Given the description of an element on the screen output the (x, y) to click on. 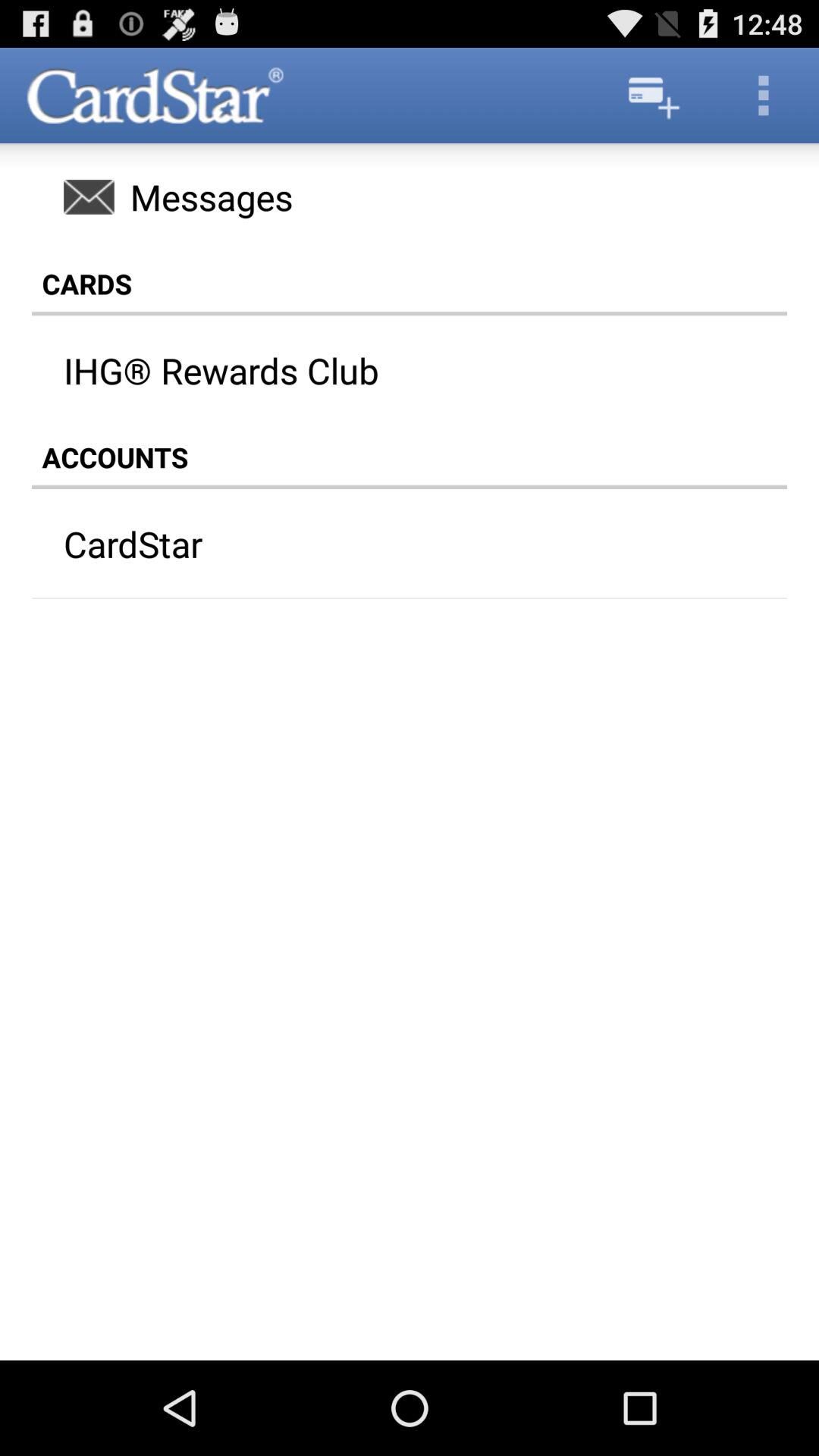
flip to cardstar icon (379, 543)
